Given the description of an element on the screen output the (x, y) to click on. 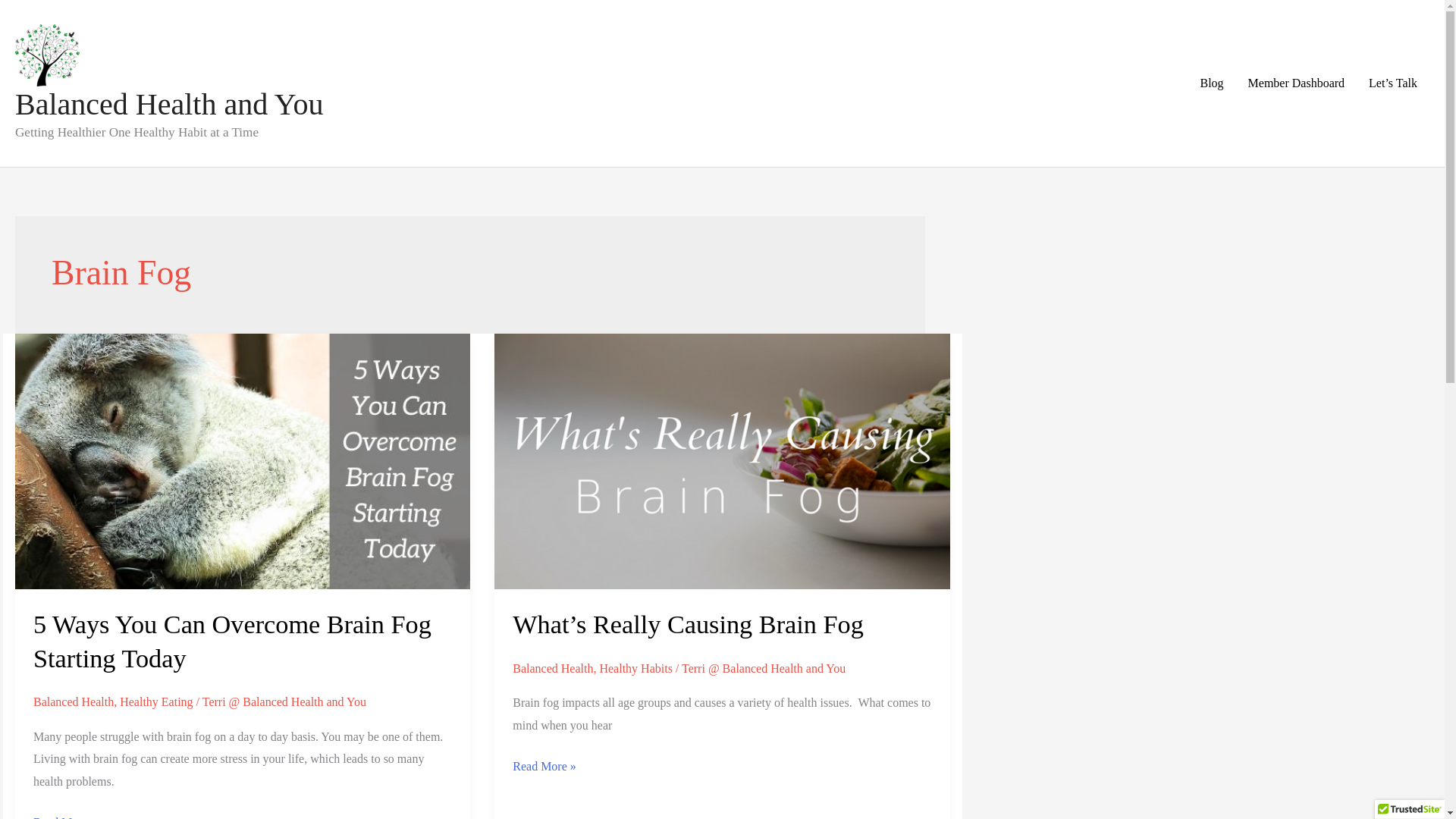
Member Dashboard (1296, 82)
Healthy Eating (155, 701)
Balanced Health (73, 701)
Healthy Habits (634, 667)
5 Ways You Can Overcome Brain Fog Starting Today (231, 640)
Blog (1211, 82)
Balanced Health and You (168, 103)
Balanced Health (552, 667)
